Given the description of an element on the screen output the (x, y) to click on. 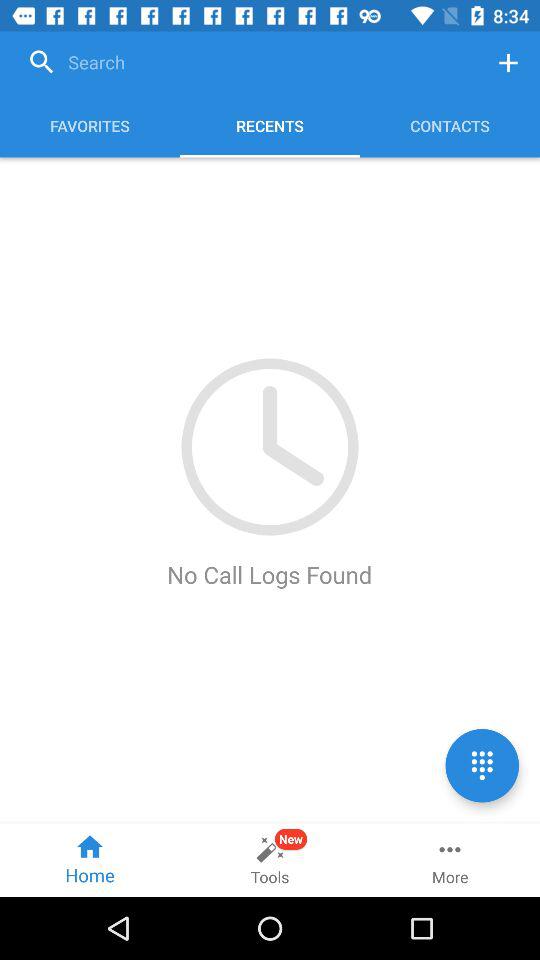
see options (482, 765)
